Given the description of an element on the screen output the (x, y) to click on. 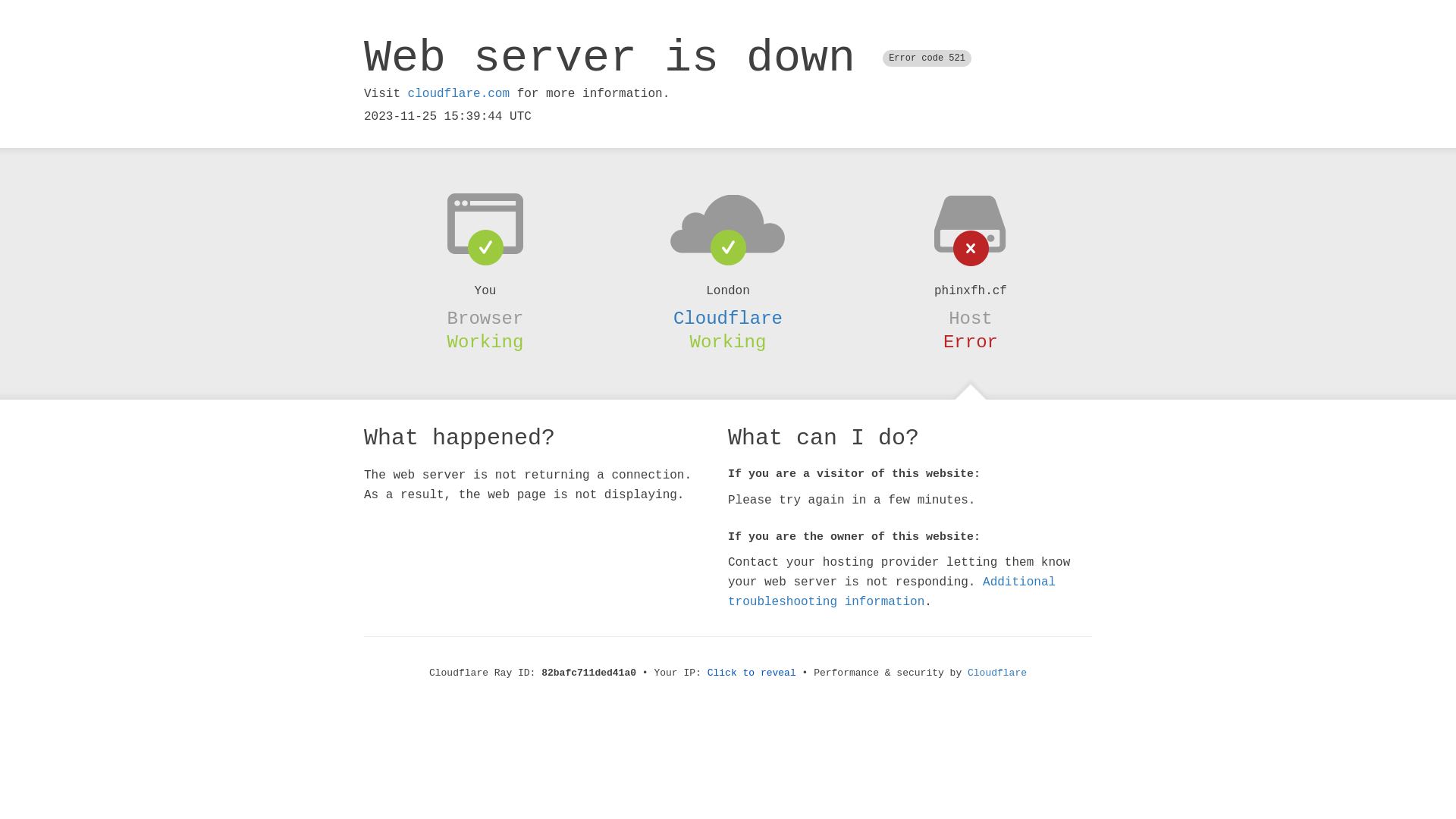
Additional troubleshooting information Element type: text (891, 591)
Click to reveal Element type: text (751, 672)
cloudflare.com Element type: text (458, 93)
Cloudflare Element type: text (996, 672)
Cloudflare Element type: text (727, 318)
